Given the description of an element on the screen output the (x, y) to click on. 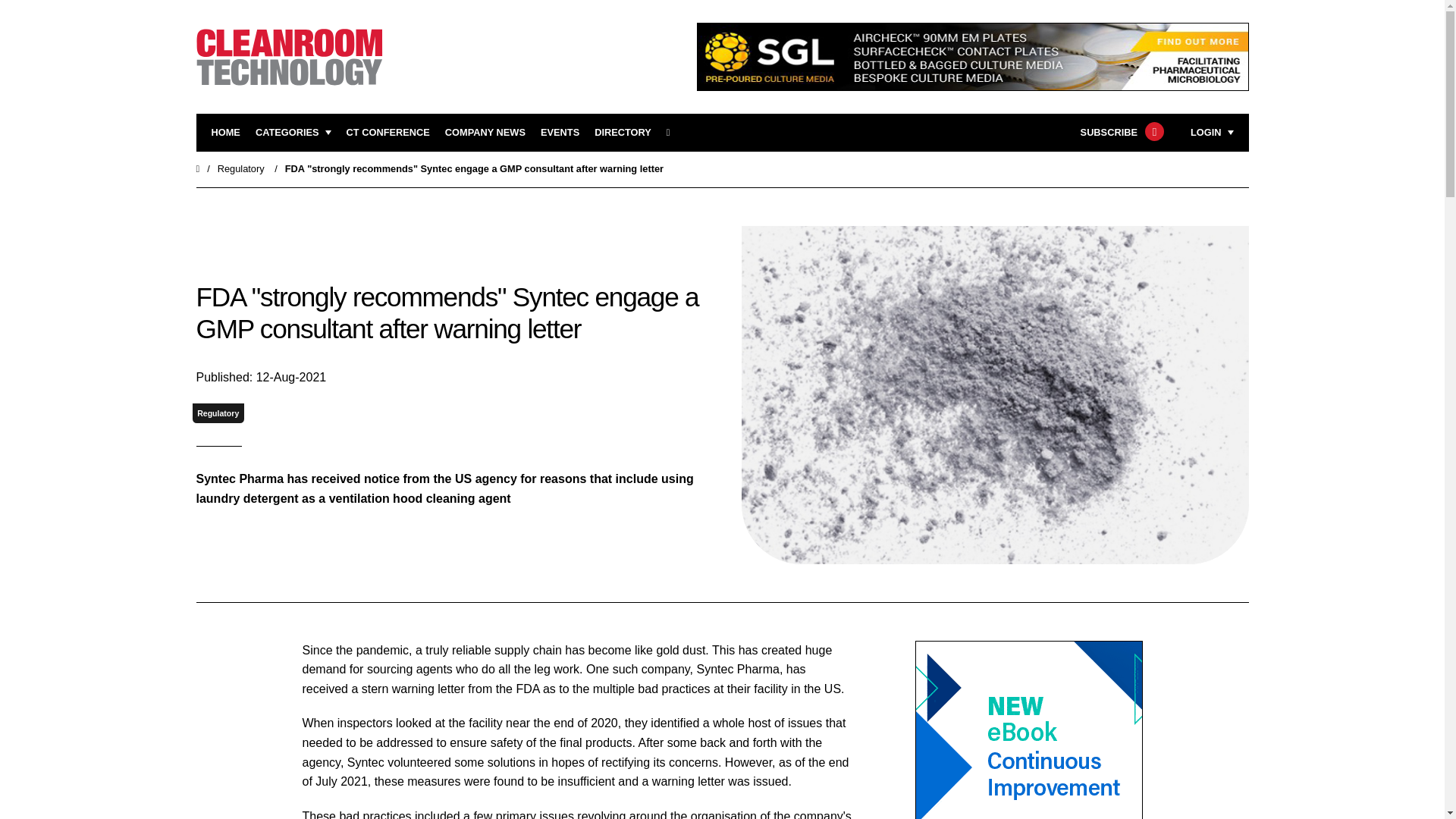
Directory (622, 133)
CATEGORIES (293, 133)
Regulatory (218, 413)
DIRECTORY (622, 133)
EVENTS (559, 133)
SUBSCRIBE (1120, 133)
HOME (225, 133)
CT CONFERENCE (387, 133)
Cleanroom Technology (387, 133)
SEARCH (672, 133)
LOGIN (1212, 133)
Regulatory (240, 168)
Sign In (1134, 321)
COMPANY NEWS (485, 133)
